Given the description of an element on the screen output the (x, y) to click on. 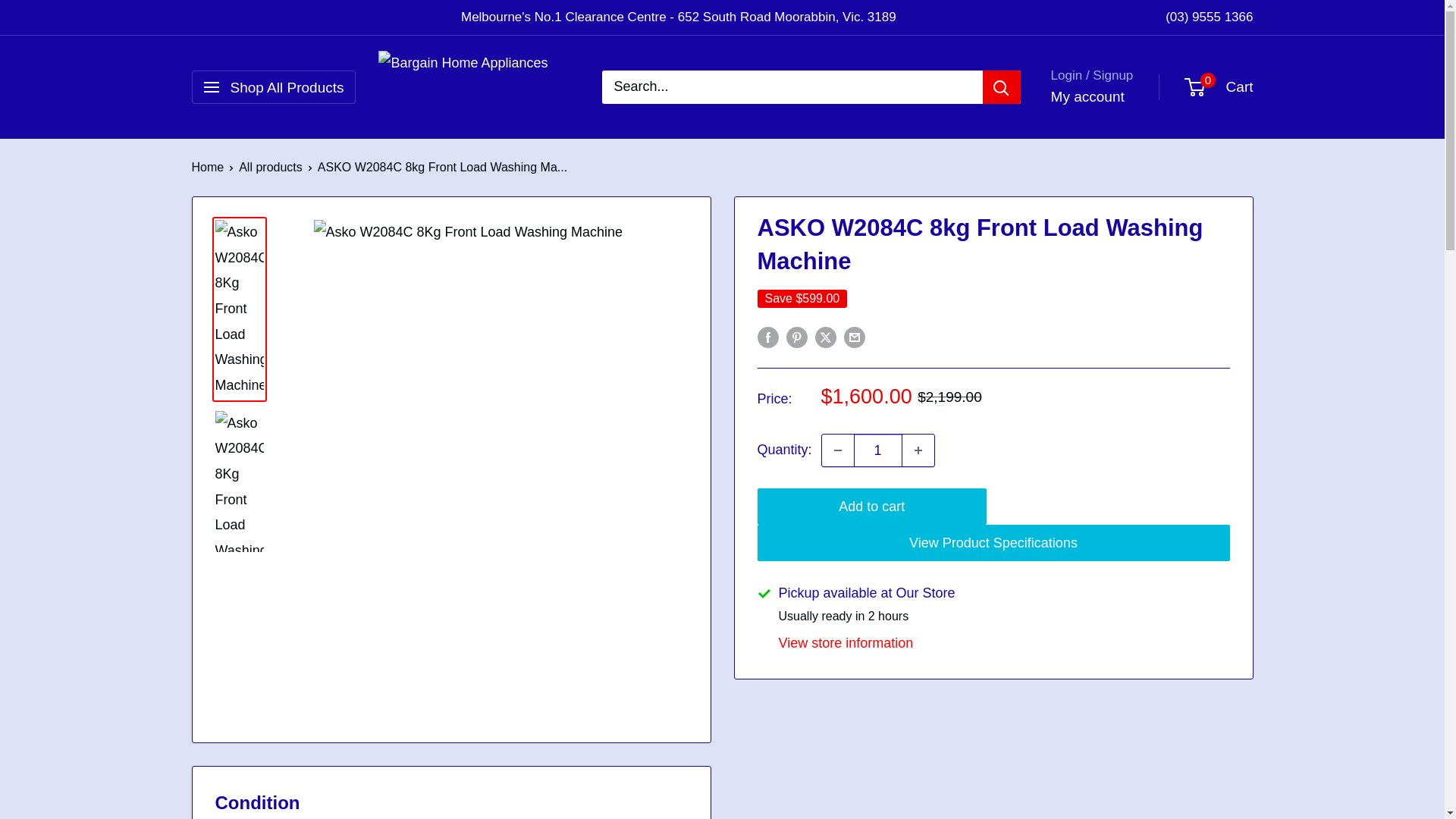
Decrease quantity by 1 (837, 450)
Increase quantity by 1 (918, 450)
1 (877, 450)
